Given the description of an element on the screen output the (x, y) to click on. 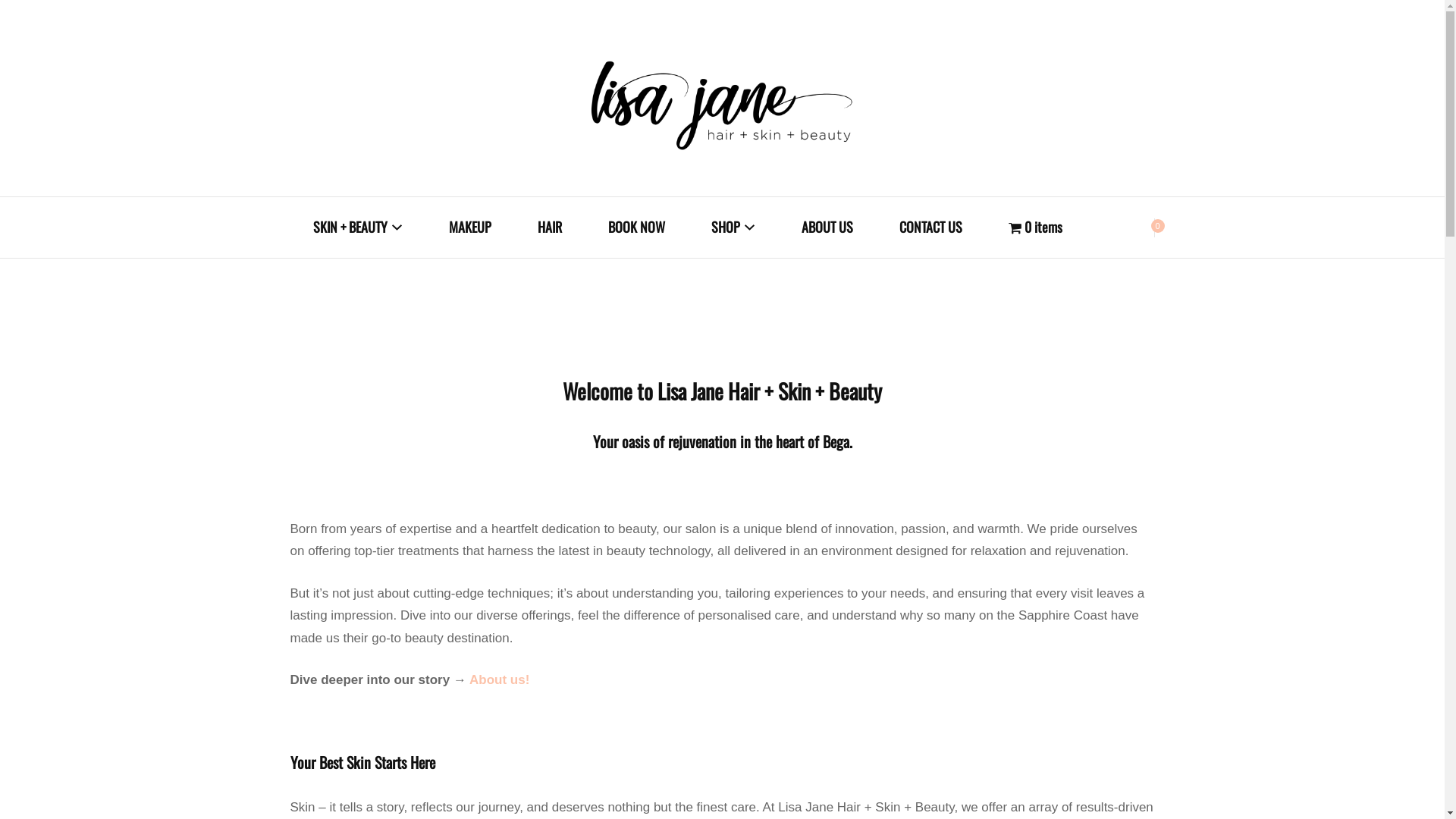
CONTACT US Element type: text (930, 227)
ABOUT US Element type: text (826, 227)
Skincare Element type: text (771, 294)
BOOK NOW Element type: text (636, 227)
SHOP Element type: text (733, 227)
SKIN + BEAUTY Element type: text (356, 227)
HAIR Element type: text (548, 227)
Lisa Jane Hair + Skin + Beauty Element type: text (866, 275)
MAKEUP Element type: text (470, 227)
About us! Element type: text (499, 679)
0 items Element type: text (1035, 227)
SPECIAL OFFERS Element type: text (372, 294)
